Given the description of an element on the screen output the (x, y) to click on. 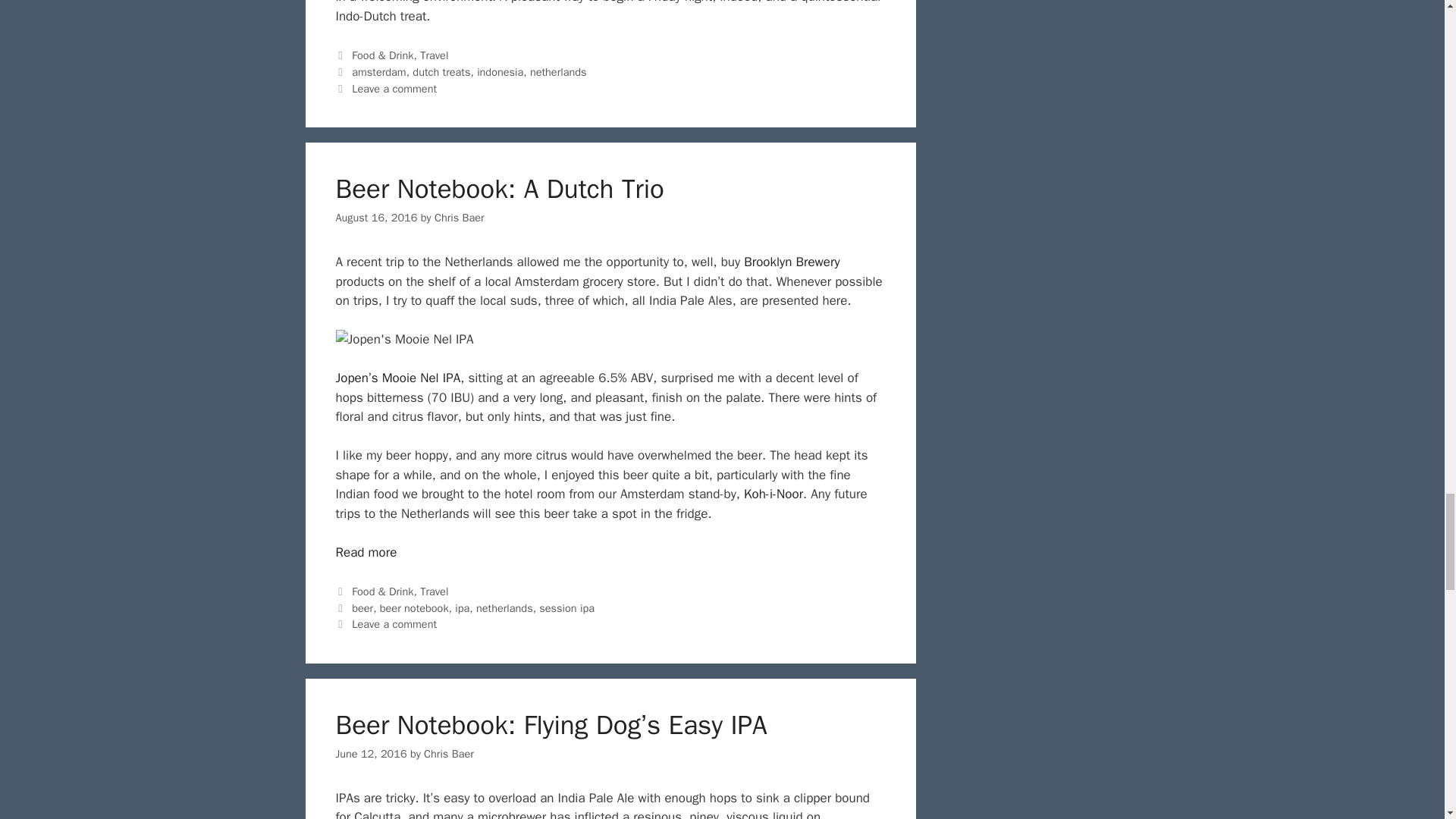
Beer Notebook: A Dutch Trio (365, 552)
Jopen's Mooie Nel IPA (403, 339)
View all posts by Chris Baer (448, 753)
View all posts by Chris Baer (458, 217)
